Given the description of an element on the screen output the (x, y) to click on. 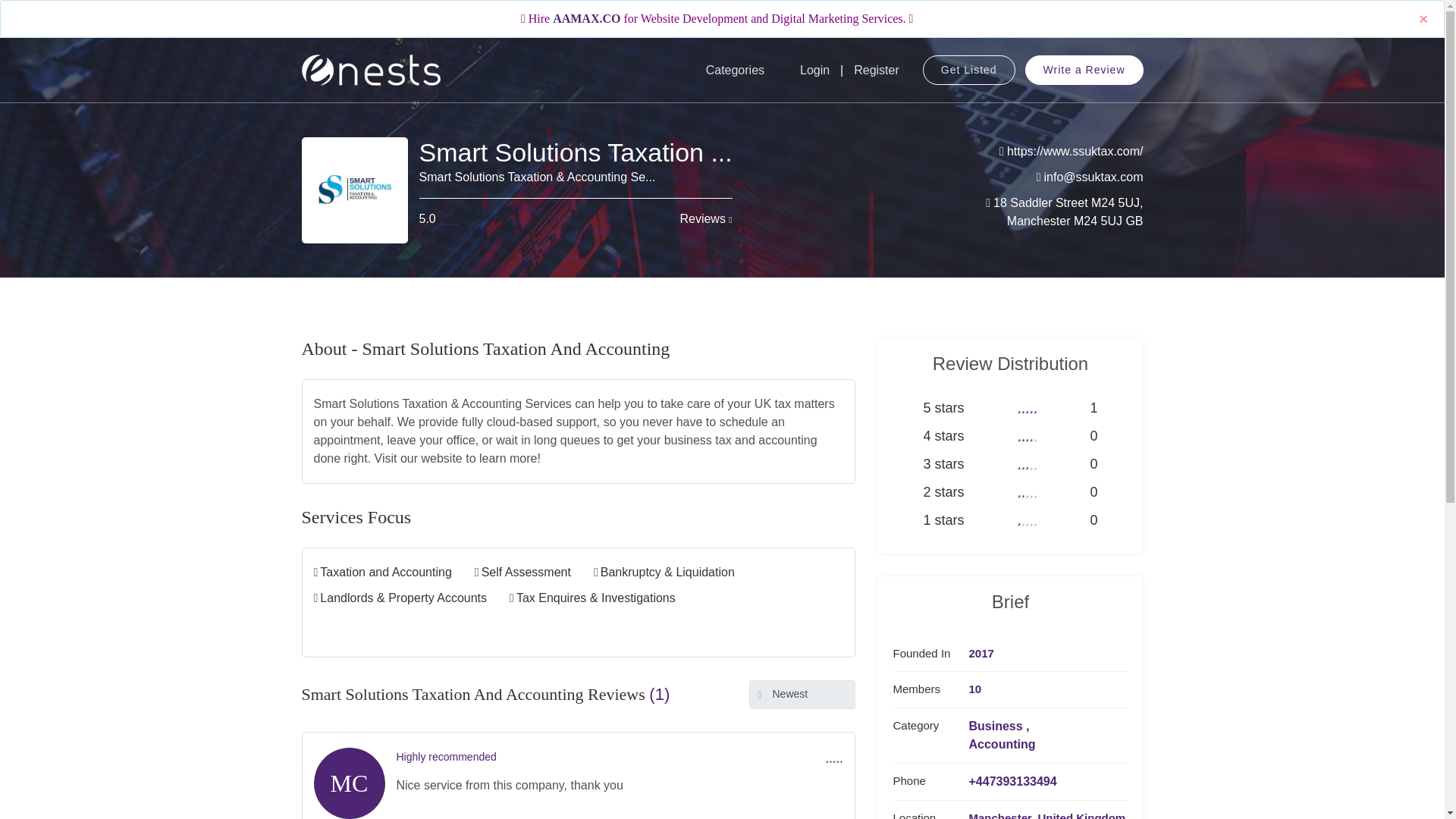
Get Listed (968, 69)
Categories (735, 69)
Login (814, 69)
Register (876, 69)
AAMAX.CO (586, 18)
Highly recommended (446, 756)
Reviews (705, 218)
Write a Review (1083, 69)
Accounting (1002, 744)
Business , (1002, 726)
